Given the description of an element on the screen output the (x, y) to click on. 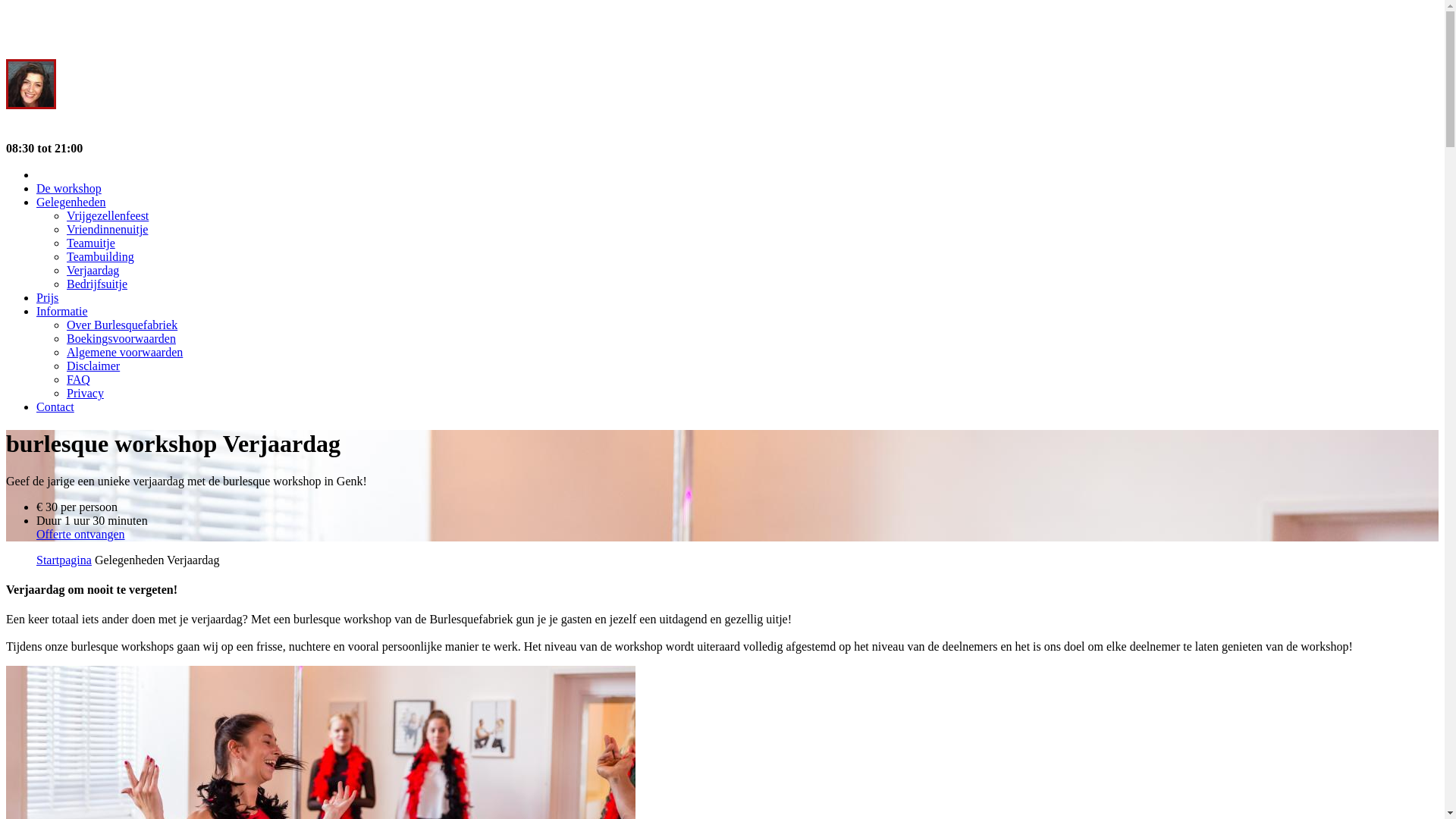
Teambuilding Element type: text (100, 256)
FAQ Element type: text (78, 379)
Gelegenheden Element type: text (71, 201)
Over Burlesquefabriek Element type: text (121, 324)
Startpagina Element type: text (63, 559)
Informatie Element type: text (61, 310)
De workshop Element type: text (68, 188)
Prijs Element type: text (47, 297)
Vriendinnenuitje Element type: text (106, 228)
Disclaimer Element type: text (92, 365)
Vrijgezellenfeest Element type: text (107, 215)
Contact Element type: text (55, 406)
Verjaardag Element type: text (92, 269)
Bedrijfsuitje Element type: text (96, 283)
Teamuitje Element type: text (90, 242)
Boekingsvoorwaarden Element type: text (120, 338)
Algemene voorwaarden Element type: text (124, 351)
Privacy Element type: text (84, 392)
Offerte ontvangen Element type: text (80, 533)
